Given the description of an element on the screen output the (x, y) to click on. 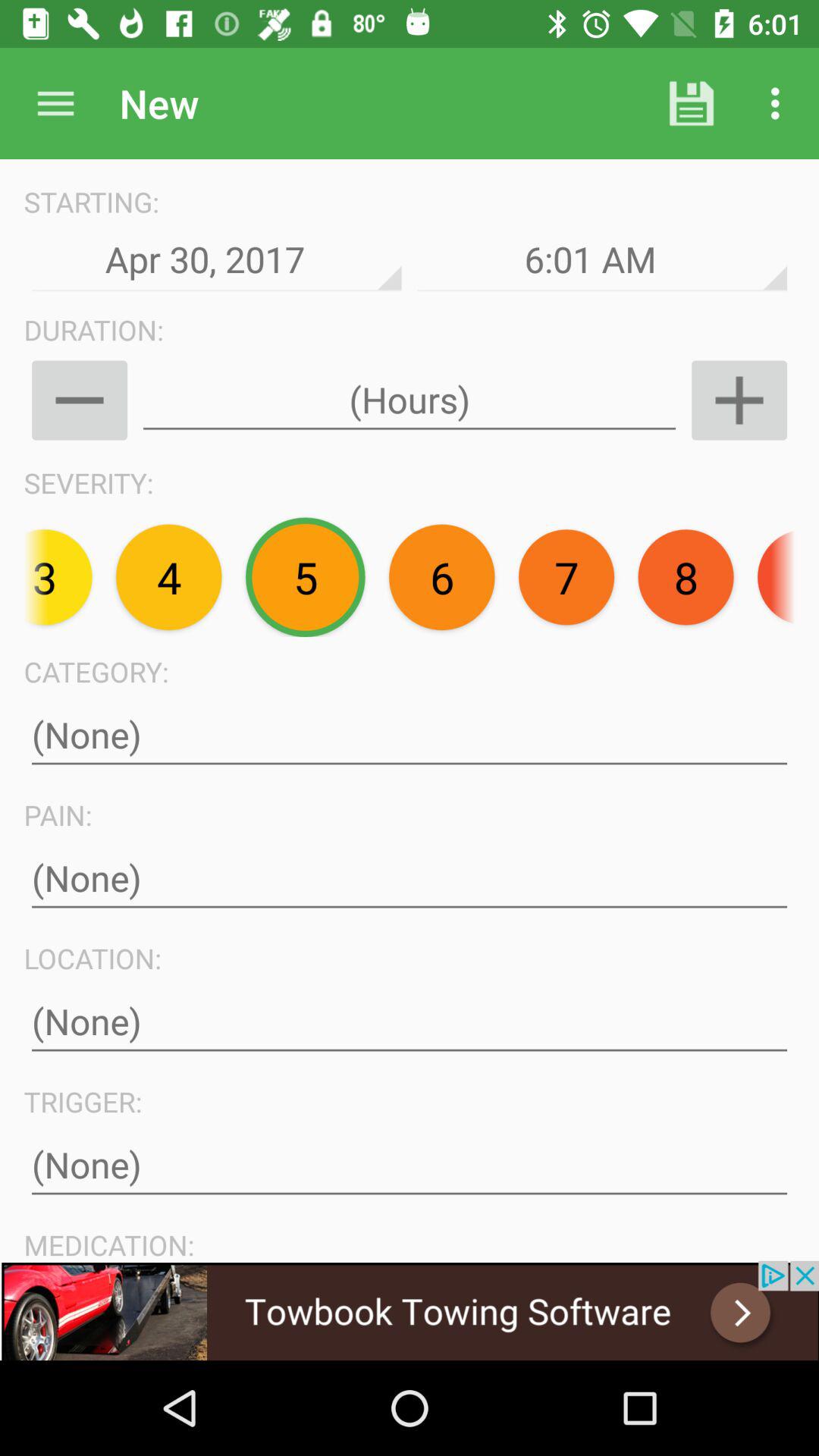
select the text  6 (442, 577)
click on the number 8 (685, 576)
click on the number five (305, 577)
select the text field below location (409, 1021)
select the text field below category (409, 735)
select the icon left to the three dots from top right corner (691, 103)
